Given the description of an element on the screen output the (x, y) to click on. 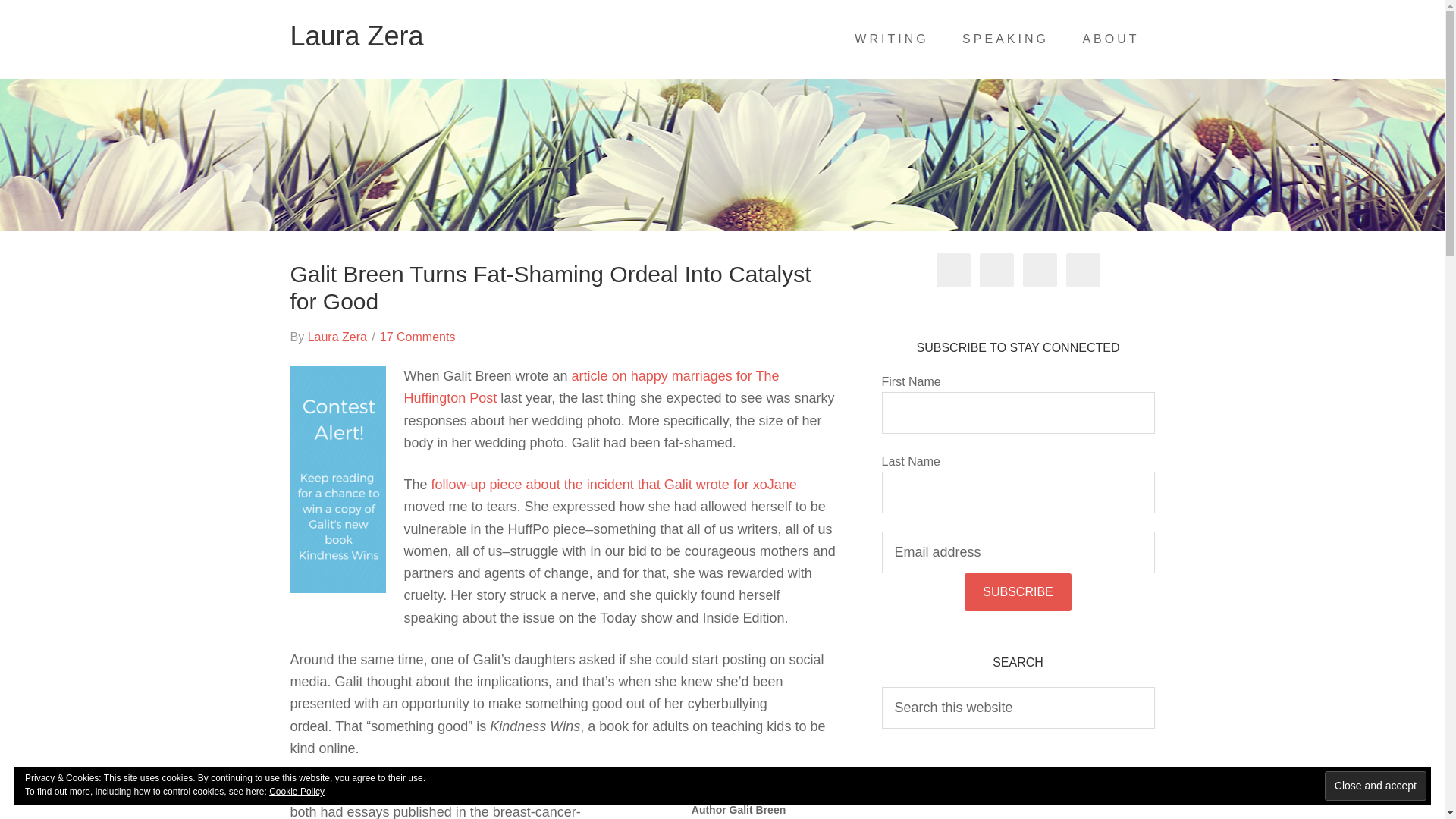
Galit Breen Turns Fat-Shaming Ordeal Into Catalyst for Good (549, 287)
ABOUT (1110, 39)
Close and accept (1375, 785)
article on happy marriages for The Huffington Post (590, 386)
Laura Zera (356, 35)
Laura Zera (336, 336)
WRITING (891, 39)
